Given the description of an element on the screen output the (x, y) to click on. 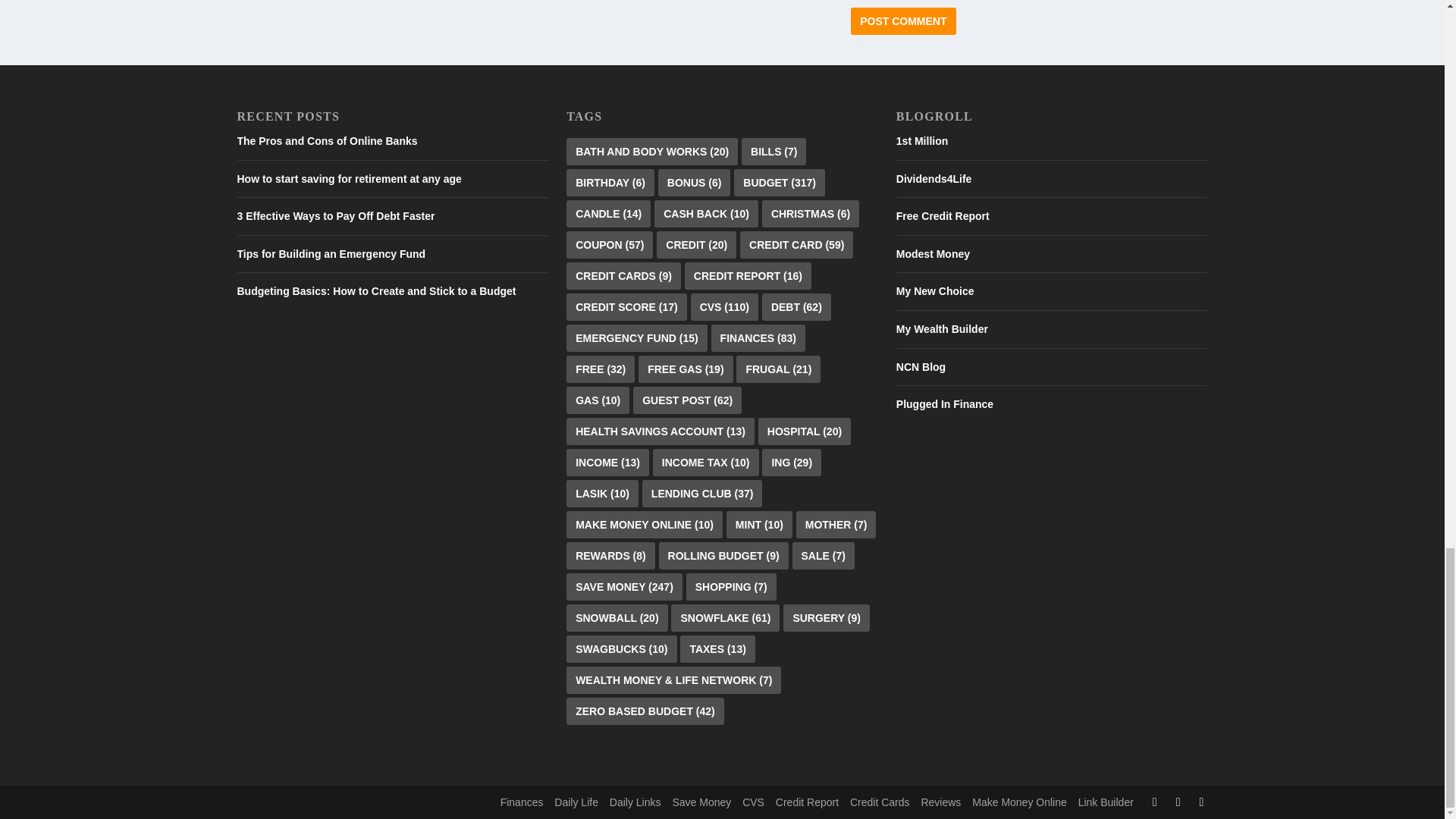
Post Comment (902, 21)
